Given the description of an element on the screen output the (x, y) to click on. 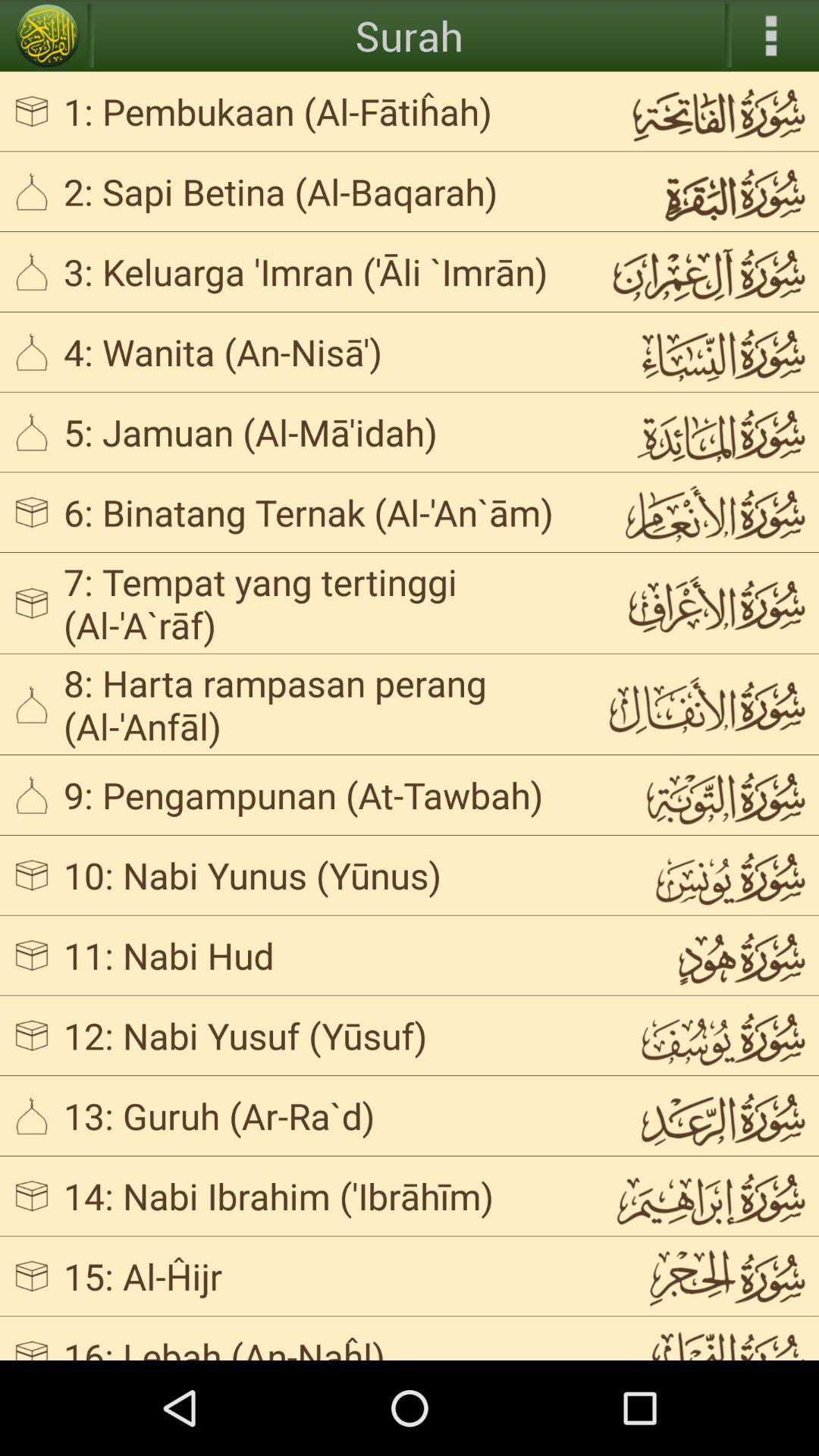
tap 5 jamuan al (322, 431)
